Given the description of an element on the screen output the (x, y) to click on. 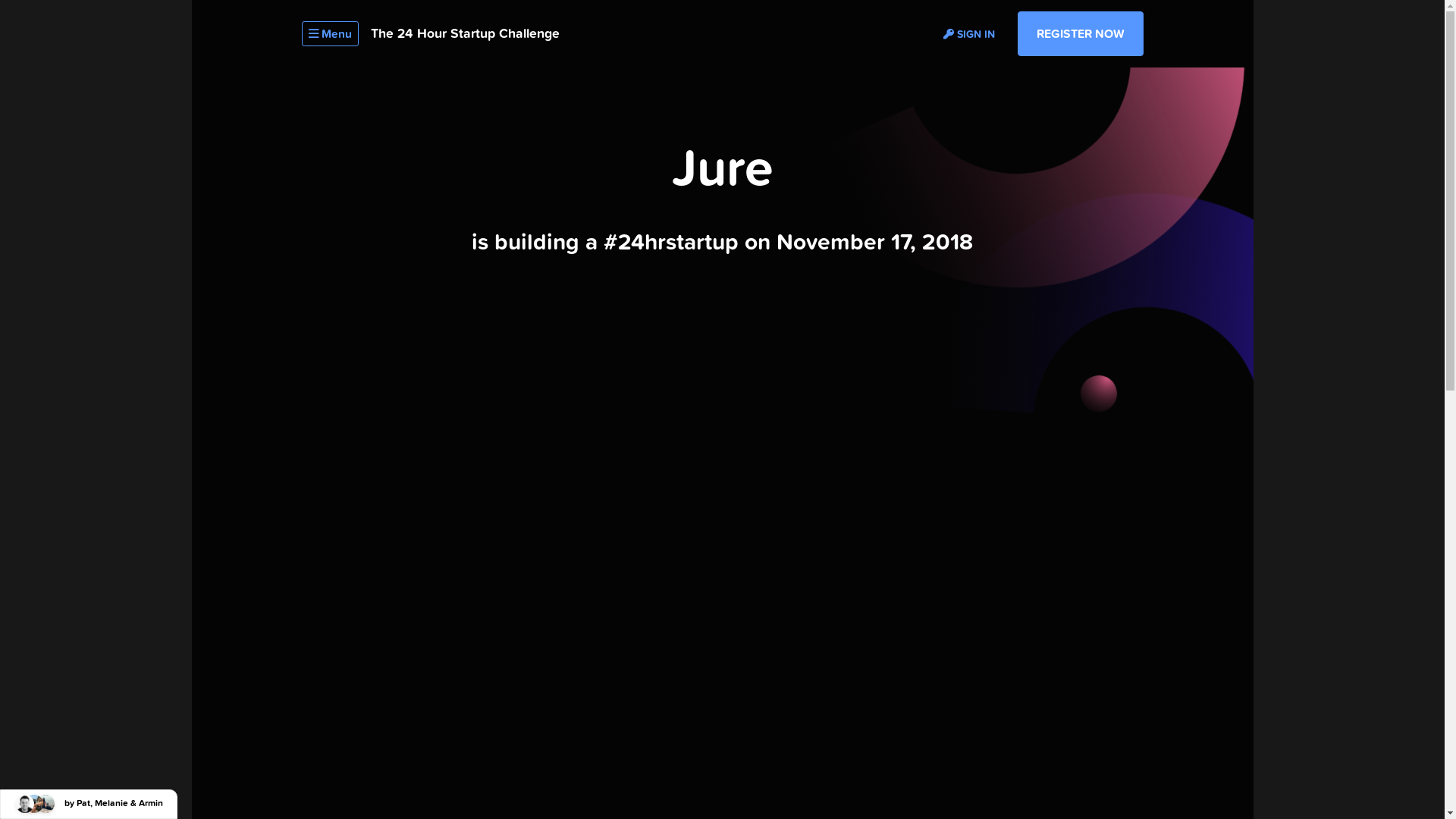
Menu Element type: text (329, 33)
REGISTER NOW Element type: text (1080, 33)
SIGN IN Element type: text (968, 32)
The 24 Hour
Startup Challenge Element type: text (464, 33)
